Given the description of an element on the screen output the (x, y) to click on. 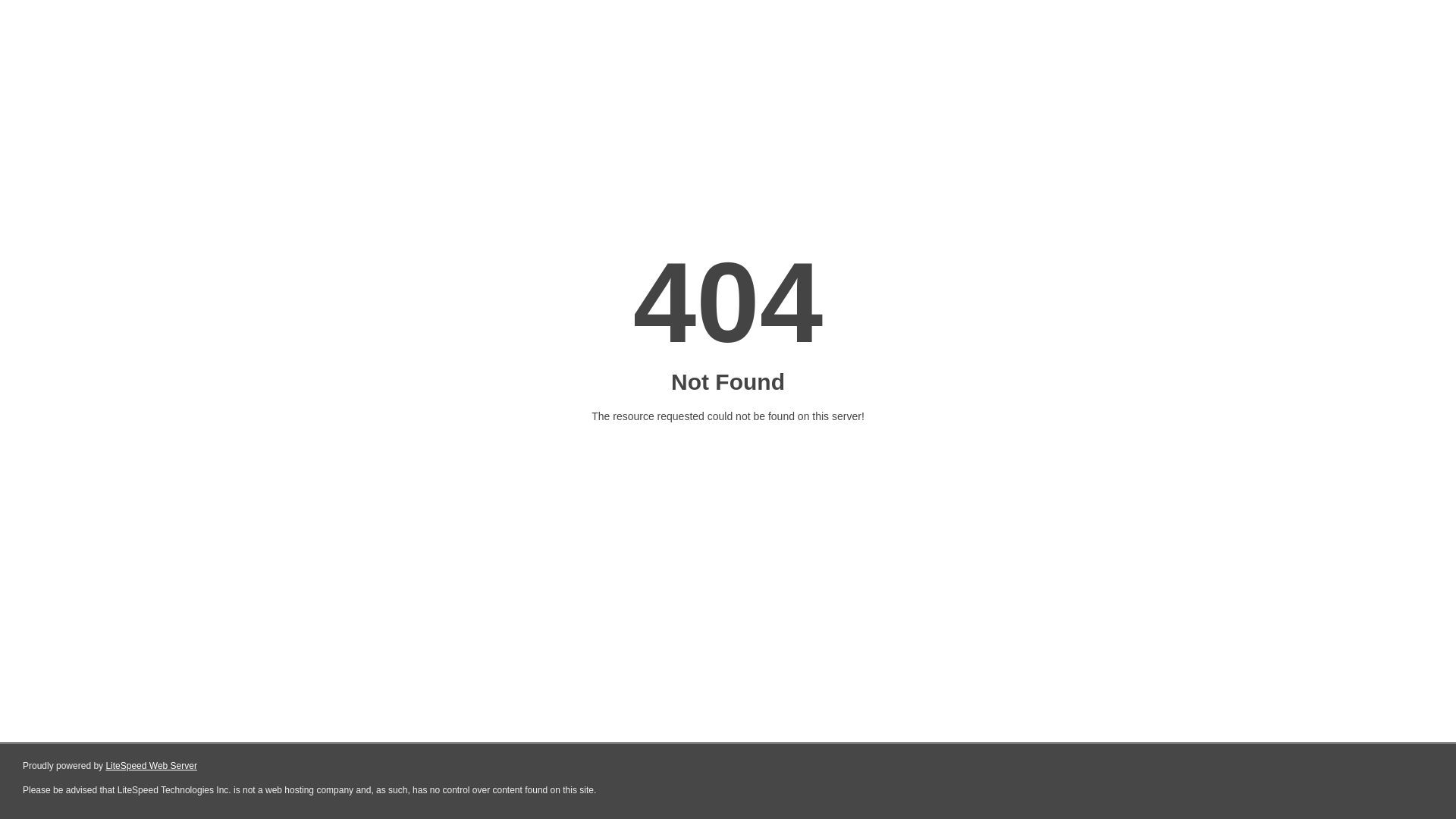
LiteSpeed Web Server Element type: text (151, 765)
